Given the description of an element on the screen output the (x, y) to click on. 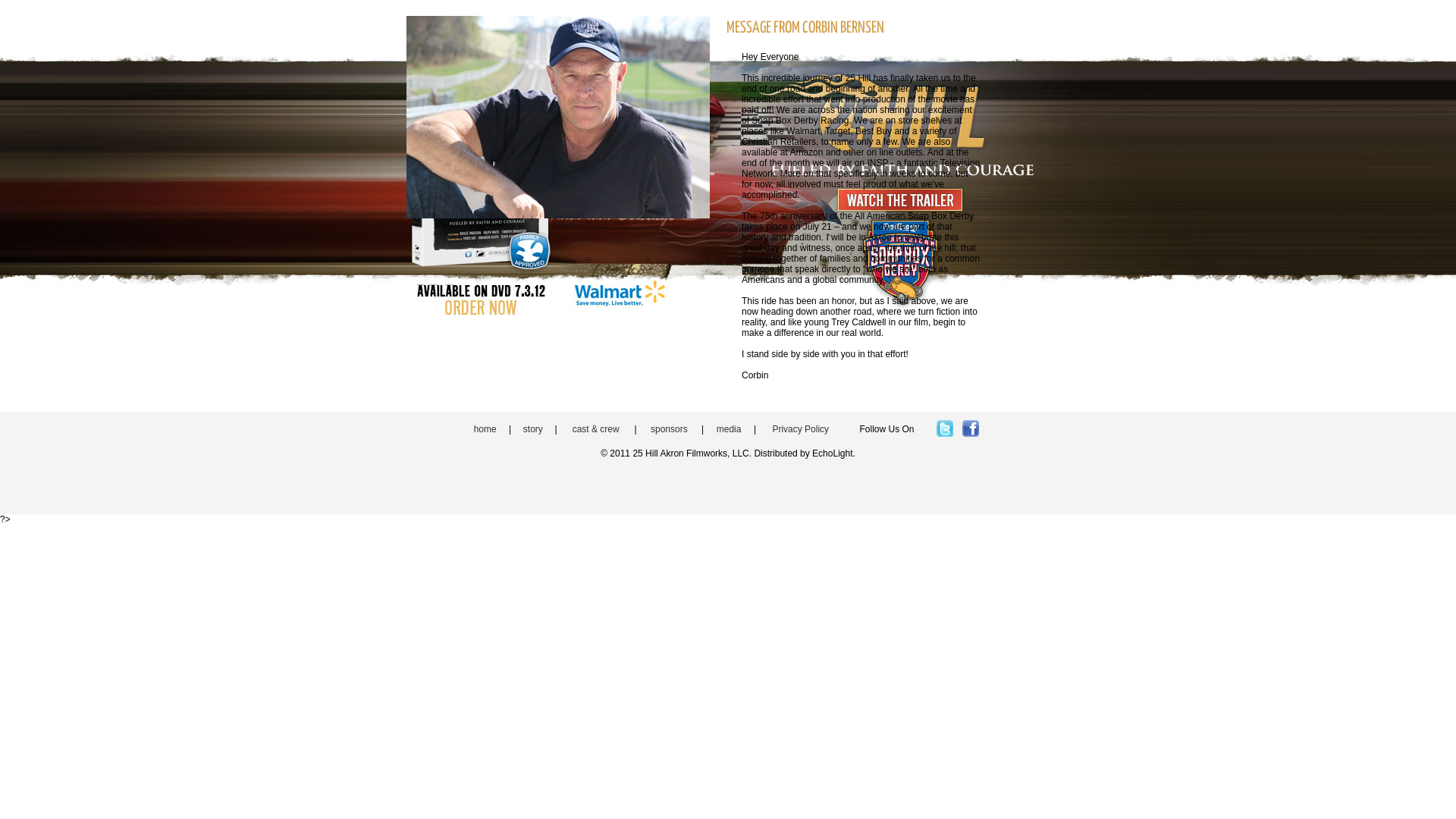
sponsors Element type: text (668, 428)
media Element type: text (728, 428)
cast & crew Element type: text (595, 428)
story Element type: text (532, 428)
home Element type: text (484, 428)
Privacy Policy Element type: text (799, 428)
